Given the description of an element on the screen output the (x, y) to click on. 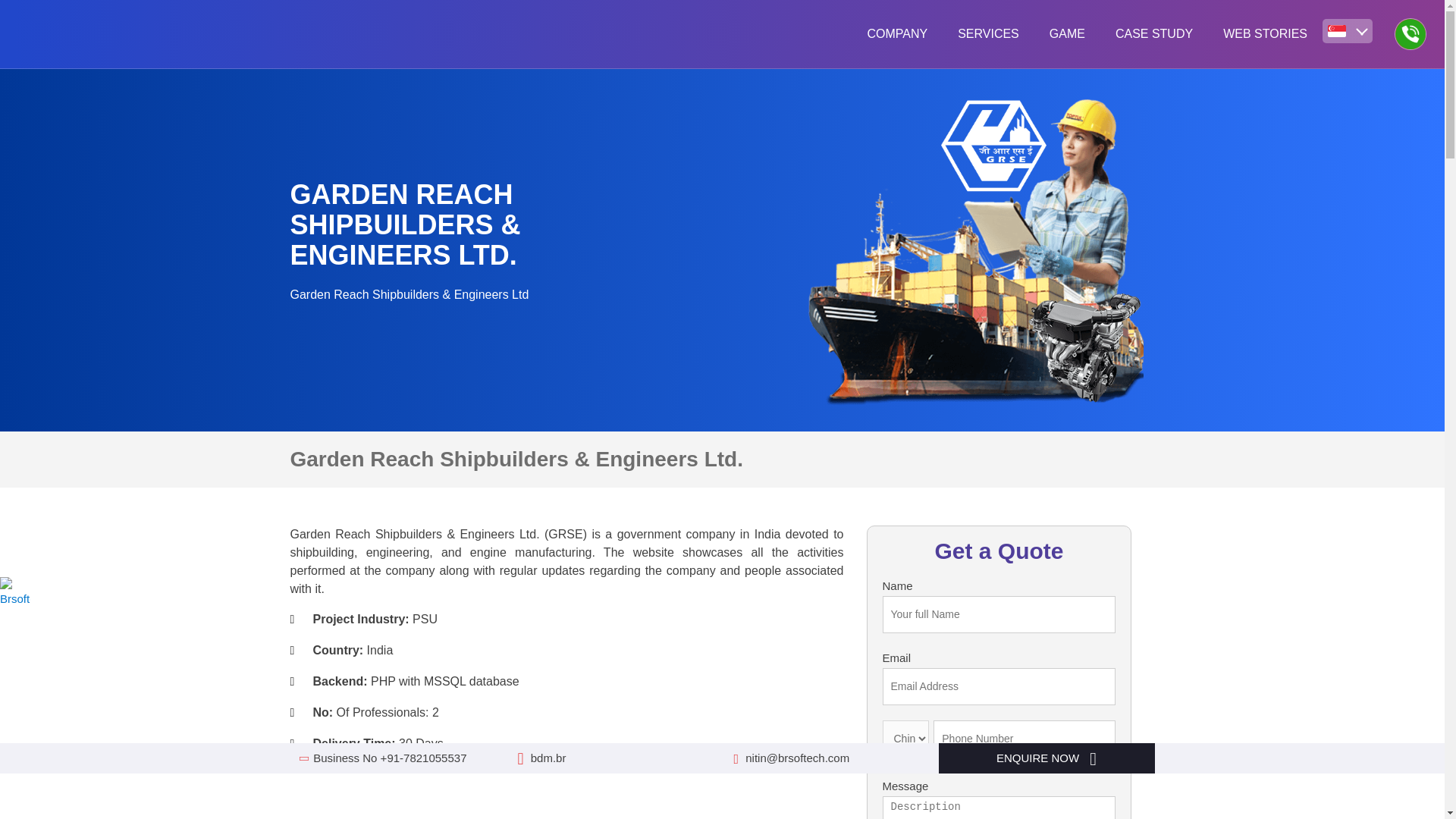
COMPANY (896, 33)
Singapore (1336, 30)
SERVICES (987, 33)
